Given the description of an element on the screen output the (x, y) to click on. 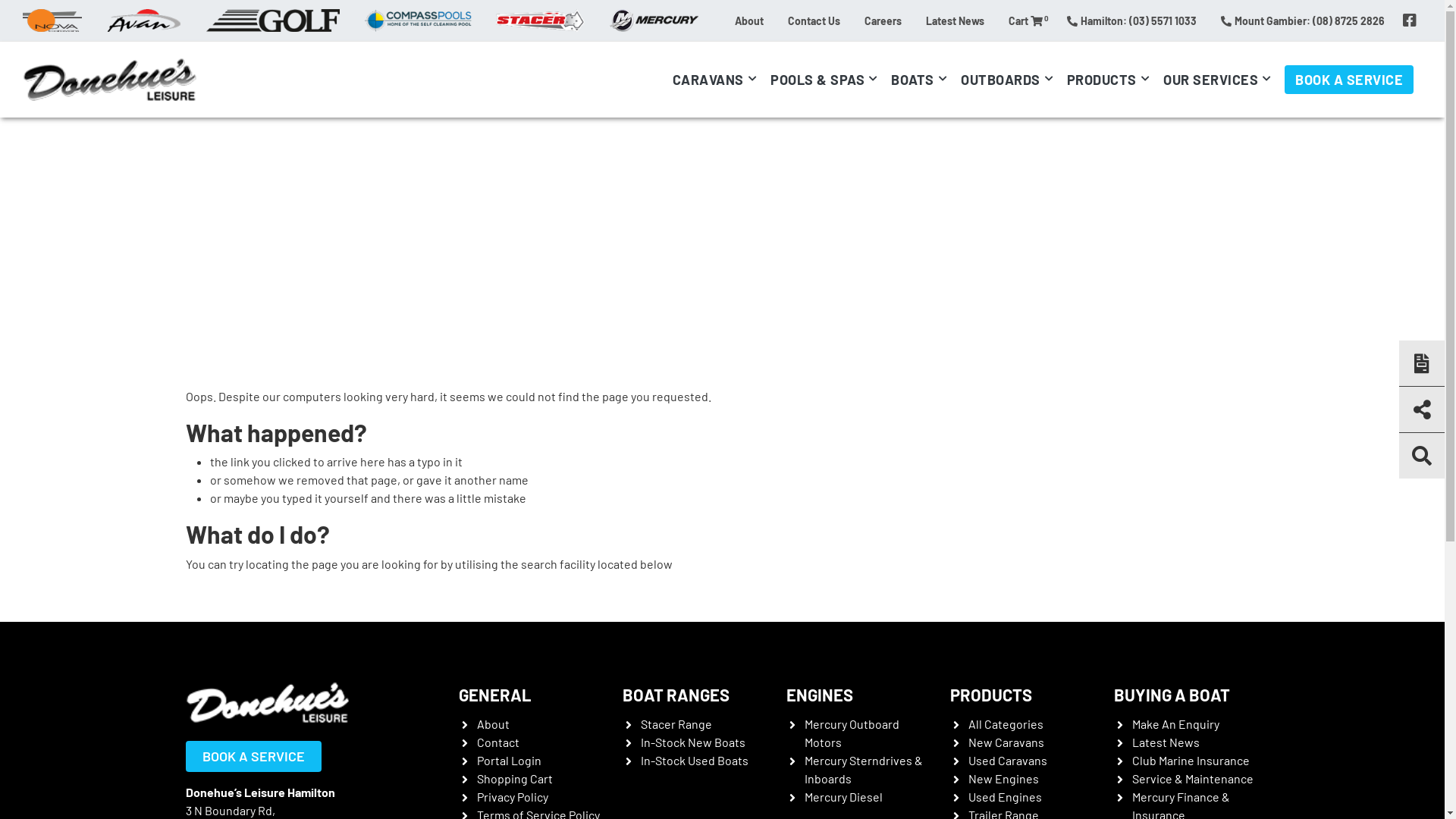
Latest News Element type: text (1164, 741)
Mount Gambier: (08) 8725 2826 Element type: text (1302, 20)
About Element type: text (748, 20)
Follow our page on Facebook! Element type: hover (1409, 20)
PRODUCTS Element type: text (1110, 79)
BOAT RANGES Element type: text (674, 694)
In-Stock New Boats Element type: text (692, 741)
In-Stock Used Boats Element type: text (693, 760)
Latest News Element type: text (954, 20)
All Categories Element type: text (1004, 723)
Portal Login Element type: text (508, 760)
Mercury Diesel Element type: text (842, 796)
New Engines Element type: text (1002, 778)
OUTBOARDS Element type: text (1009, 79)
BOOK A SERVICE Element type: text (252, 755)
Hamilton: (03) 5571 1033 Element type: text (1131, 20)
PRODUCTS Element type: text (990, 694)
POOLS & SPAS Element type: text (826, 79)
ENGINES Element type: text (818, 694)
BOOK A SERVICE Element type: text (1348, 79)
Stacer Range Element type: text (675, 723)
BUYING A BOAT Element type: text (1171, 694)
Shopping Cart Element type: text (514, 778)
BOATS Element type: text (921, 79)
Privacy Policy Element type: text (511, 796)
New Caravans Element type: text (1005, 741)
Contact Element type: text (497, 741)
GENERAL Element type: text (494, 694)
Mercury Sterndrives & Inboards Element type: text (862, 769)
Club Marine Insurance Element type: text (1189, 760)
Make An Enquiry Element type: text (1174, 723)
Contact Us Element type: text (813, 20)
Used Engines Element type: text (1004, 796)
Cart
0 Element type: text (1025, 20)
CARAVANS Element type: text (717, 79)
Service & Maintenance Element type: text (1191, 778)
Used Caravans Element type: text (1006, 760)
Careers Element type: text (882, 20)
About Element type: text (492, 723)
Mercury Outboard Motors Element type: text (850, 732)
OUR SERVICES Element type: text (1220, 79)
